Given the description of an element on the screen output the (x, y) to click on. 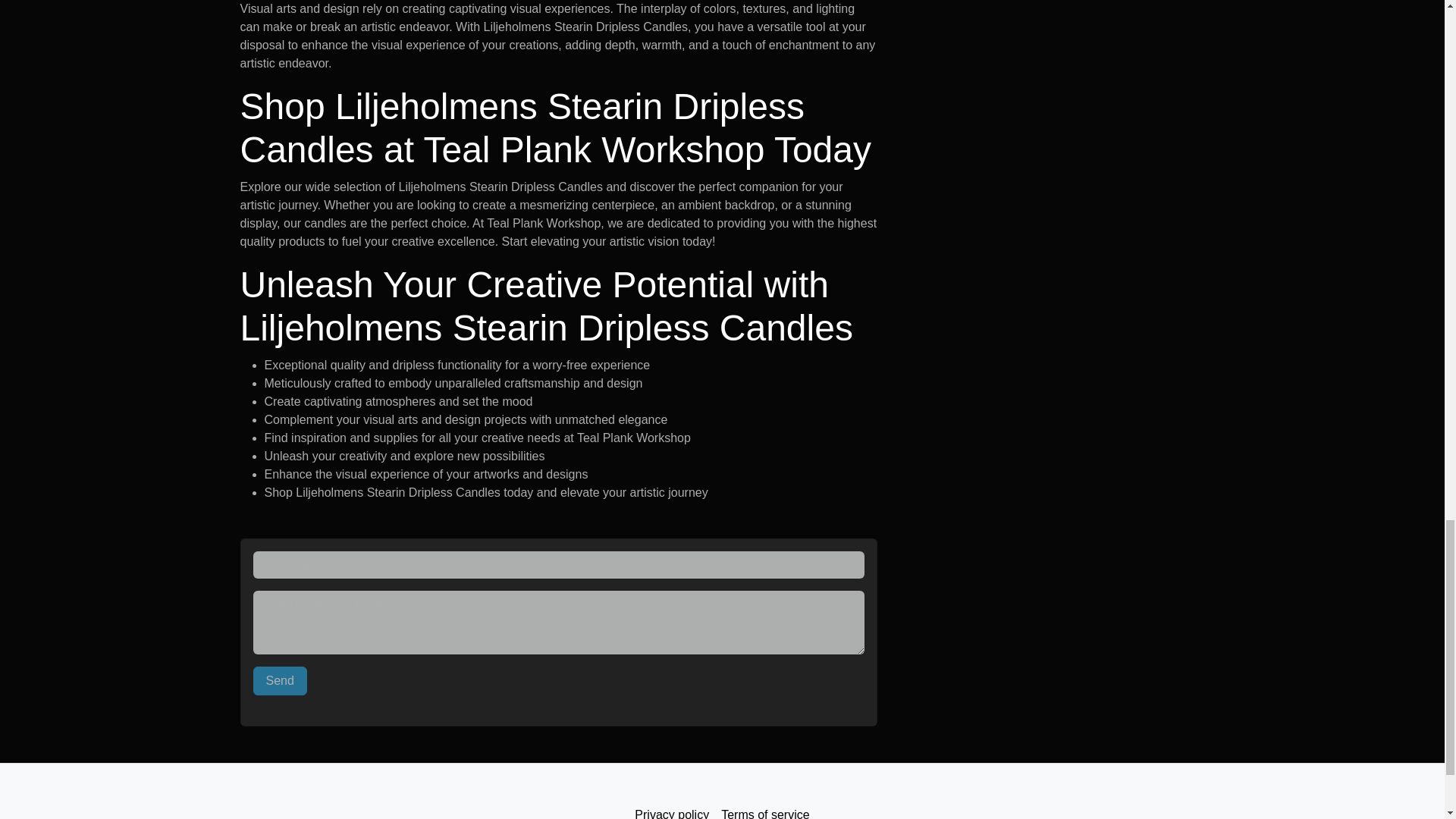
Privacy policy (671, 809)
Send (280, 680)
Terms of service (764, 809)
Send (280, 680)
